Given the description of an element on the screen output the (x, y) to click on. 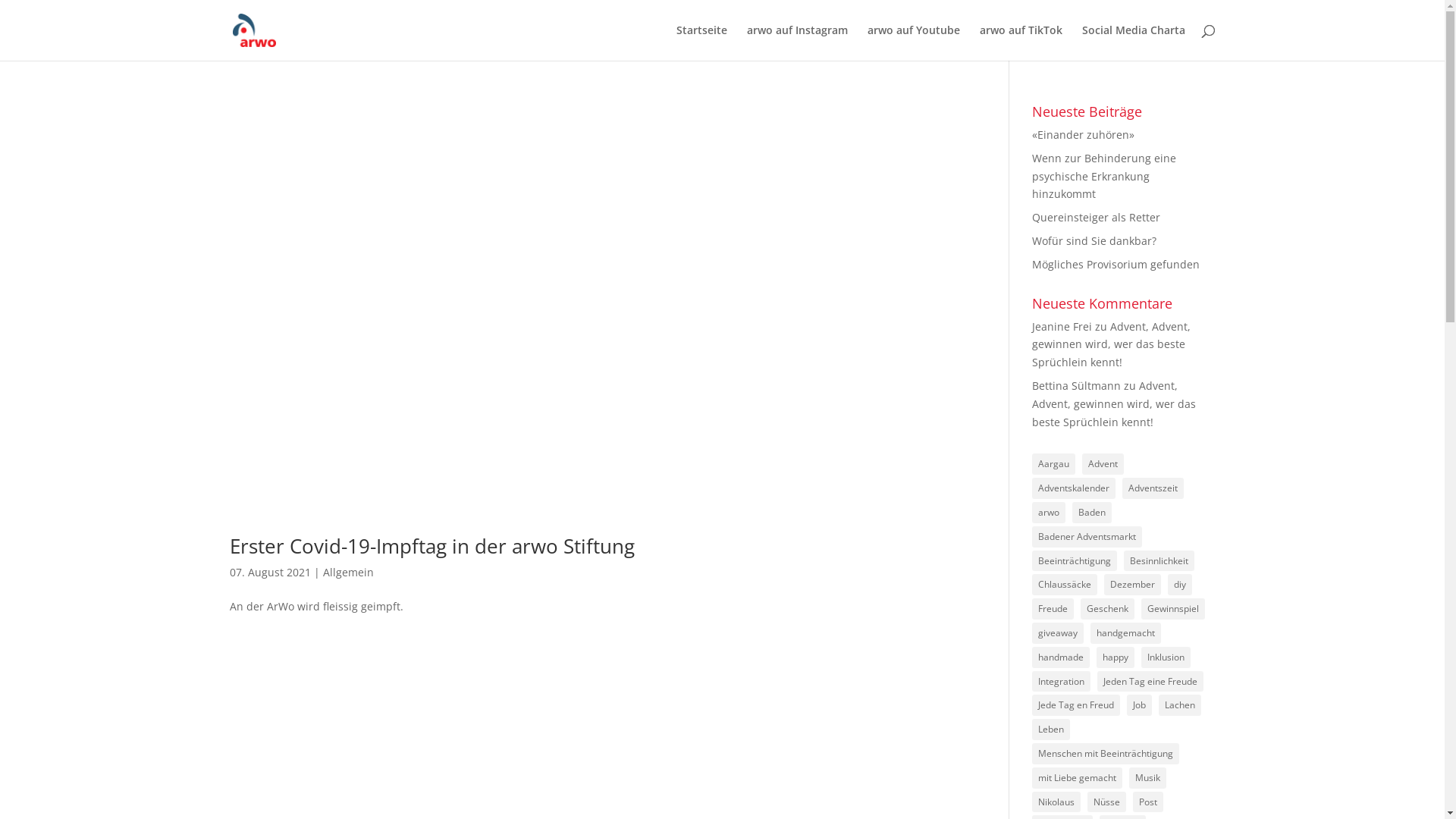
Advent Element type: text (1102, 463)
mit Liebe gemacht Element type: text (1077, 777)
arwo auf Youtube Element type: text (913, 42)
Baden Element type: text (1091, 512)
arwo Element type: text (1048, 512)
Badener Adventsmarkt Element type: text (1087, 536)
Jede Tag en Freud Element type: text (1076, 704)
Quereinsteiger als Retter Element type: text (1096, 217)
Startseite Element type: text (701, 42)
Erster Covid-19-Impftag in der arwo Stiftung Element type: text (431, 545)
Adventszeit Element type: text (1152, 487)
arwo auf TikTok Element type: text (1020, 42)
Nikolaus Element type: text (1056, 801)
Freude Element type: text (1052, 608)
Dezember Element type: text (1132, 584)
happy Element type: text (1115, 657)
Jeanine Frei Element type: text (1062, 326)
Leben Element type: text (1051, 729)
Adventskalender Element type: text (1073, 487)
handmade Element type: text (1060, 657)
Jeden Tag eine Freude Element type: text (1150, 681)
Integration Element type: text (1061, 681)
Wenn zur Behinderung eine psychische Erkrankung hinzukommt Element type: text (1104, 175)
Gewinnspiel Element type: text (1172, 608)
Lachen Element type: text (1179, 704)
Geschenk Element type: text (1107, 608)
Post Element type: text (1147, 801)
Job Element type: text (1138, 704)
handgemacht Element type: text (1125, 632)
Besinnlichkeit Element type: text (1158, 560)
diy Element type: text (1179, 584)
Aargau Element type: text (1053, 463)
Erster Covid-19-Impftag in der arwo Stiftung Element type: hover (591, 308)
arwo auf Instagram Element type: text (796, 42)
Inklusion Element type: text (1165, 657)
Social Media Charta Element type: text (1132, 42)
giveaway Element type: text (1057, 632)
Musik Element type: text (1147, 777)
Allgemein Element type: text (348, 571)
